Given the description of an element on the screen output the (x, y) to click on. 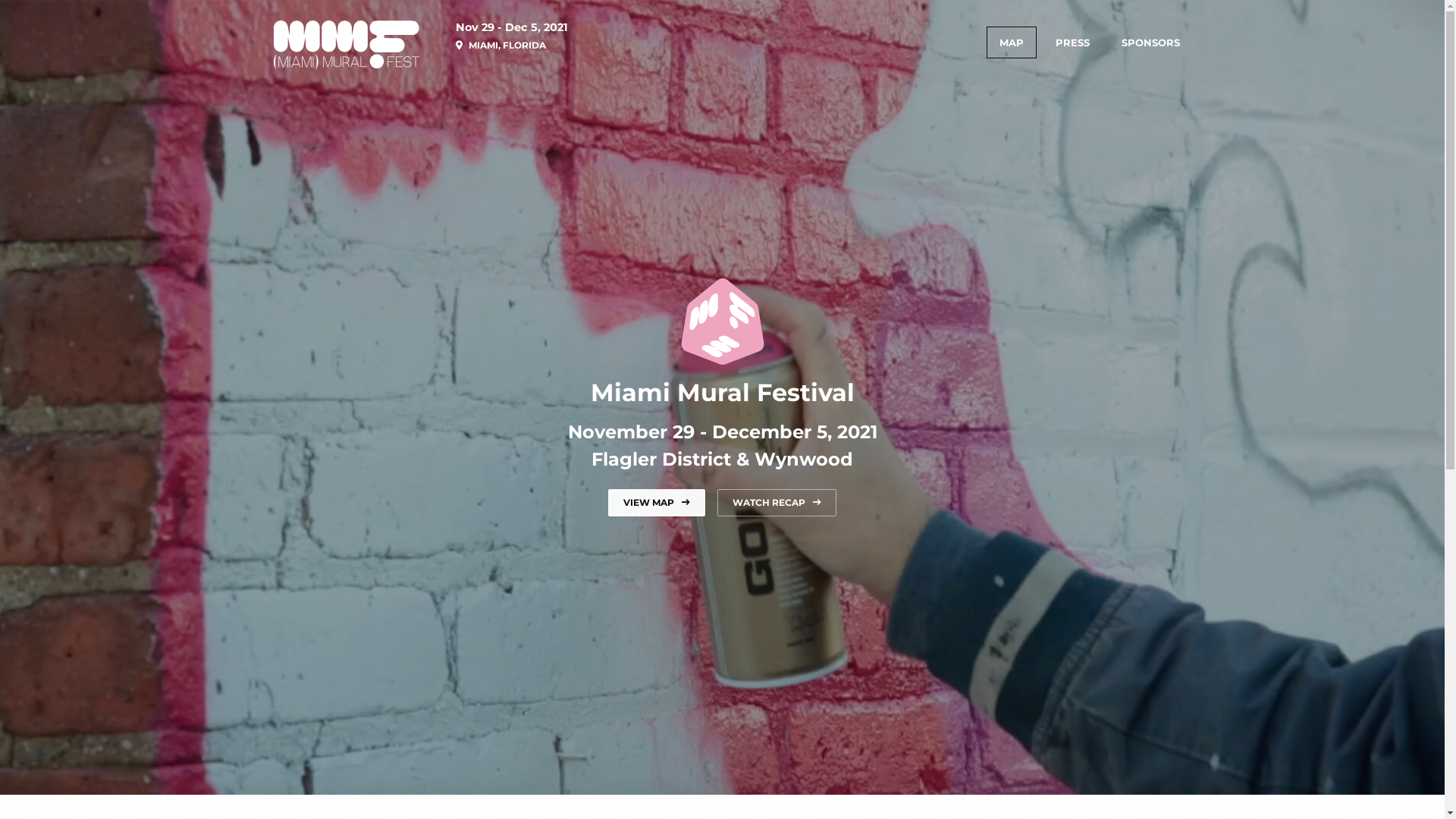
PRESS Element type: text (1071, 42)
SPONSORS Element type: text (1150, 42)
VIEW MAP Element type: text (656, 502)
WATCH RECAP Element type: text (776, 502)
MAP Element type: text (1010, 42)
